Given the description of an element on the screen output the (x, y) to click on. 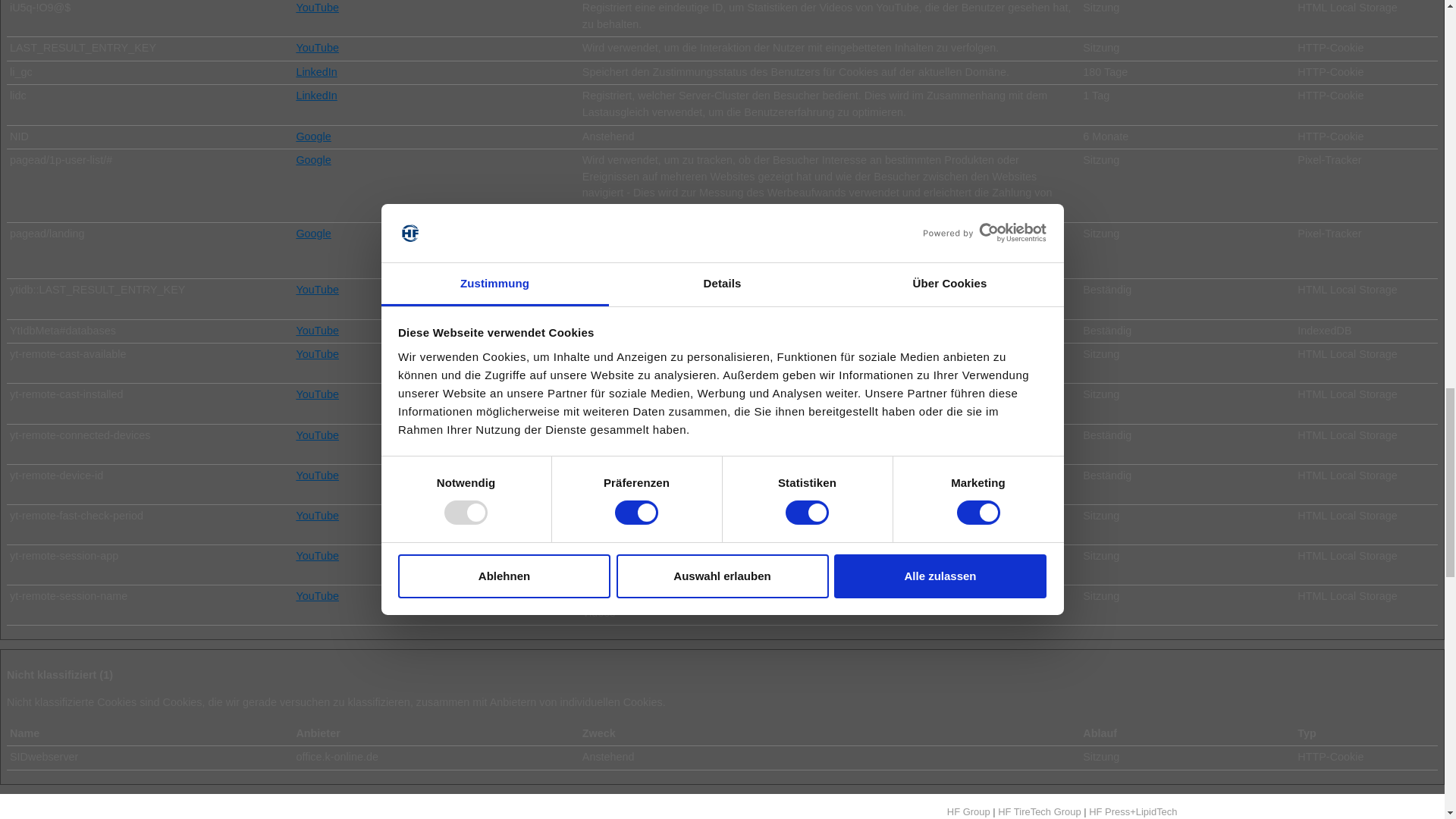
LinkedIn (315, 95)
YouTube (317, 289)
Google (312, 159)
YouTube (317, 435)
YouTube (317, 555)
LinkedIn (315, 71)
YouTube (317, 475)
YouTube (317, 47)
YouTube (317, 7)
YouTube (317, 515)
YouTube (317, 330)
Google (312, 233)
Google (312, 136)
YouTube (317, 354)
YouTube (317, 394)
